Given the description of an element on the screen output the (x, y) to click on. 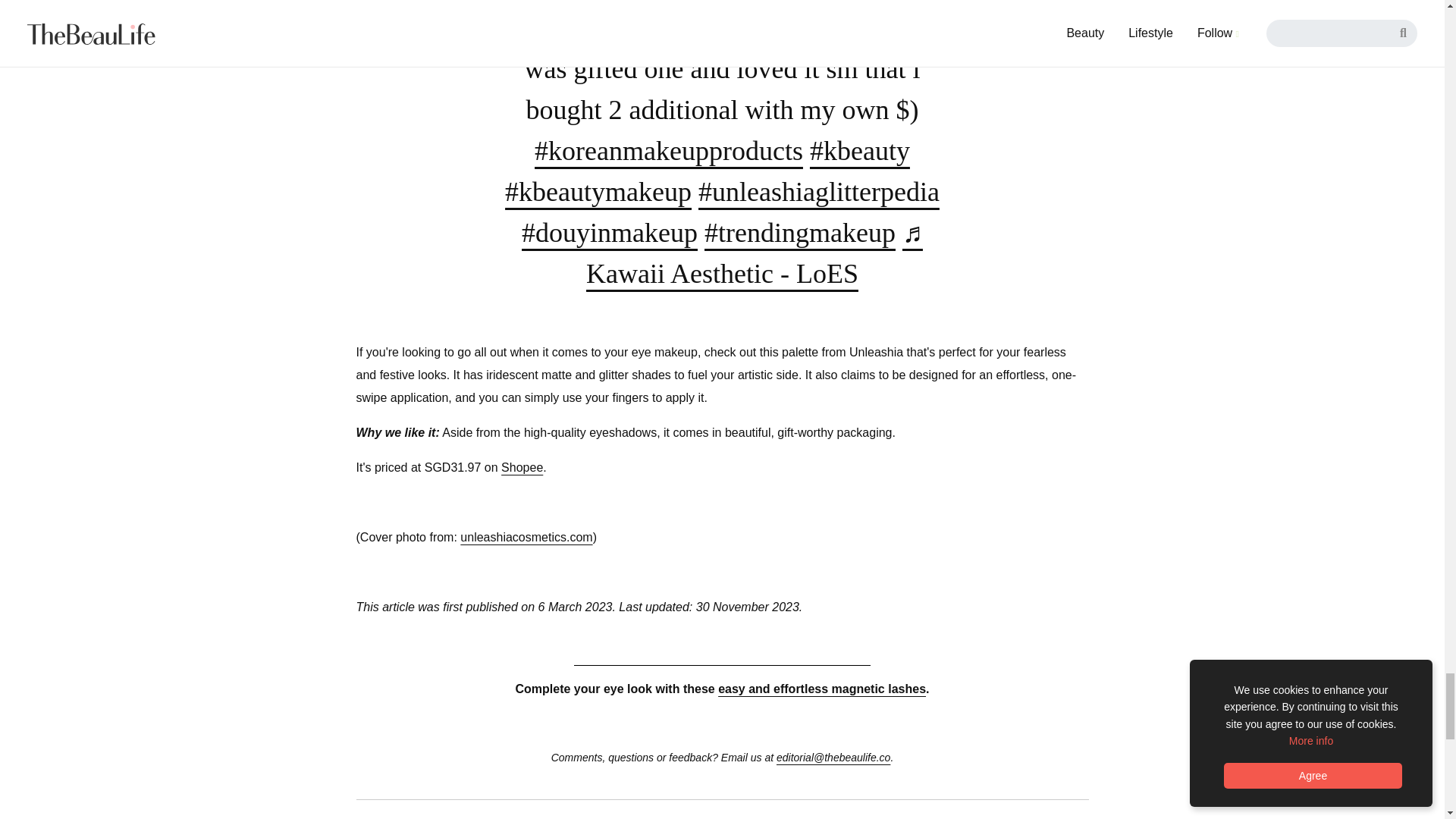
douyinmakeup (609, 232)
kbeautymakeup (598, 191)
koreanmakeupproducts (668, 150)
unleashiaglitterpedia (818, 191)
trendingmakeup (799, 232)
kbeauty (859, 150)
